Given the description of an element on the screen output the (x, y) to click on. 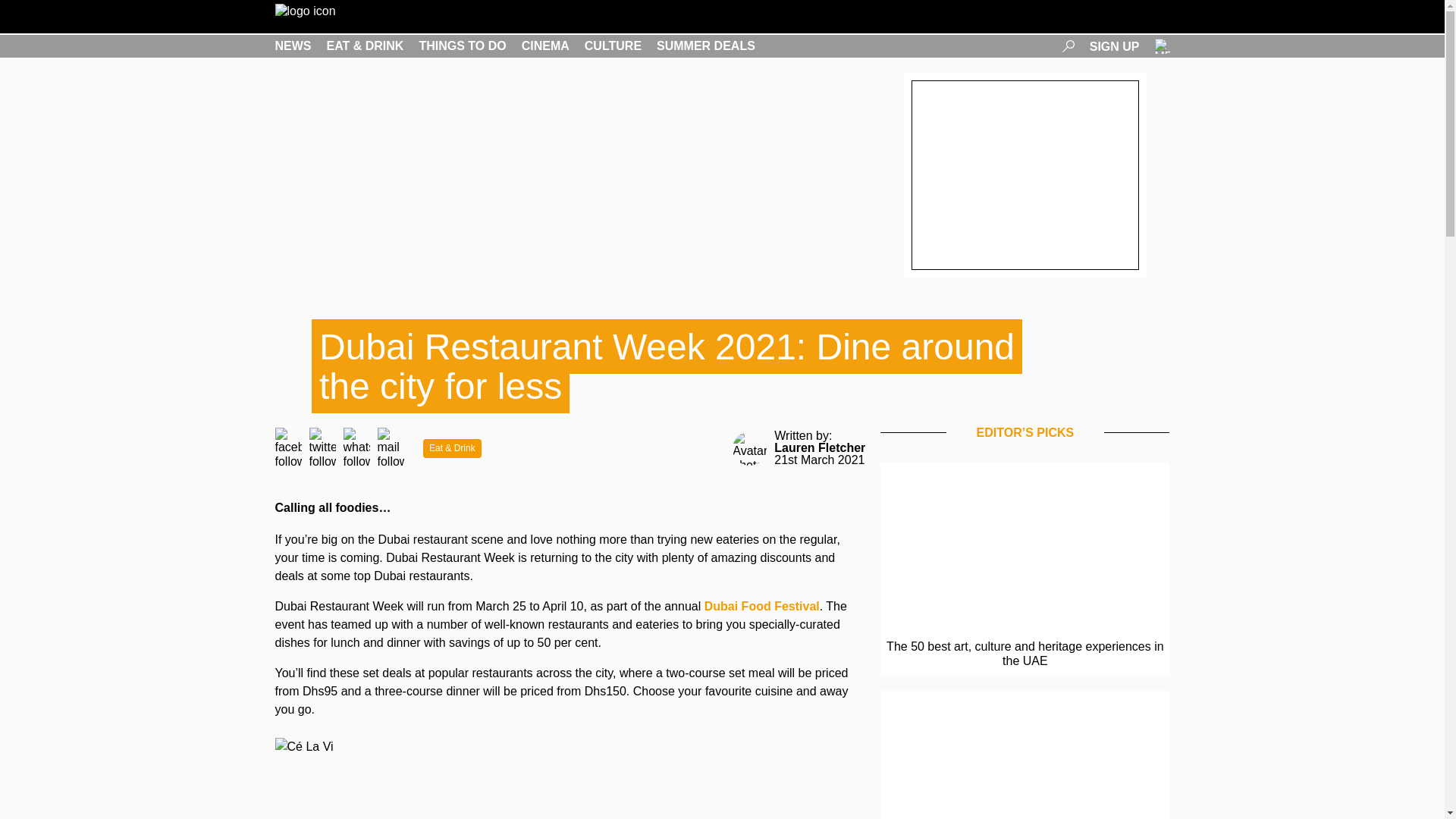
SIGN UP (1114, 45)
NEWS (293, 45)
SUMMER DEALS (705, 45)
CINEMA (545, 45)
CULTURE (613, 45)
THINGS TO DO (462, 45)
